Given the description of an element on the screen output the (x, y) to click on. 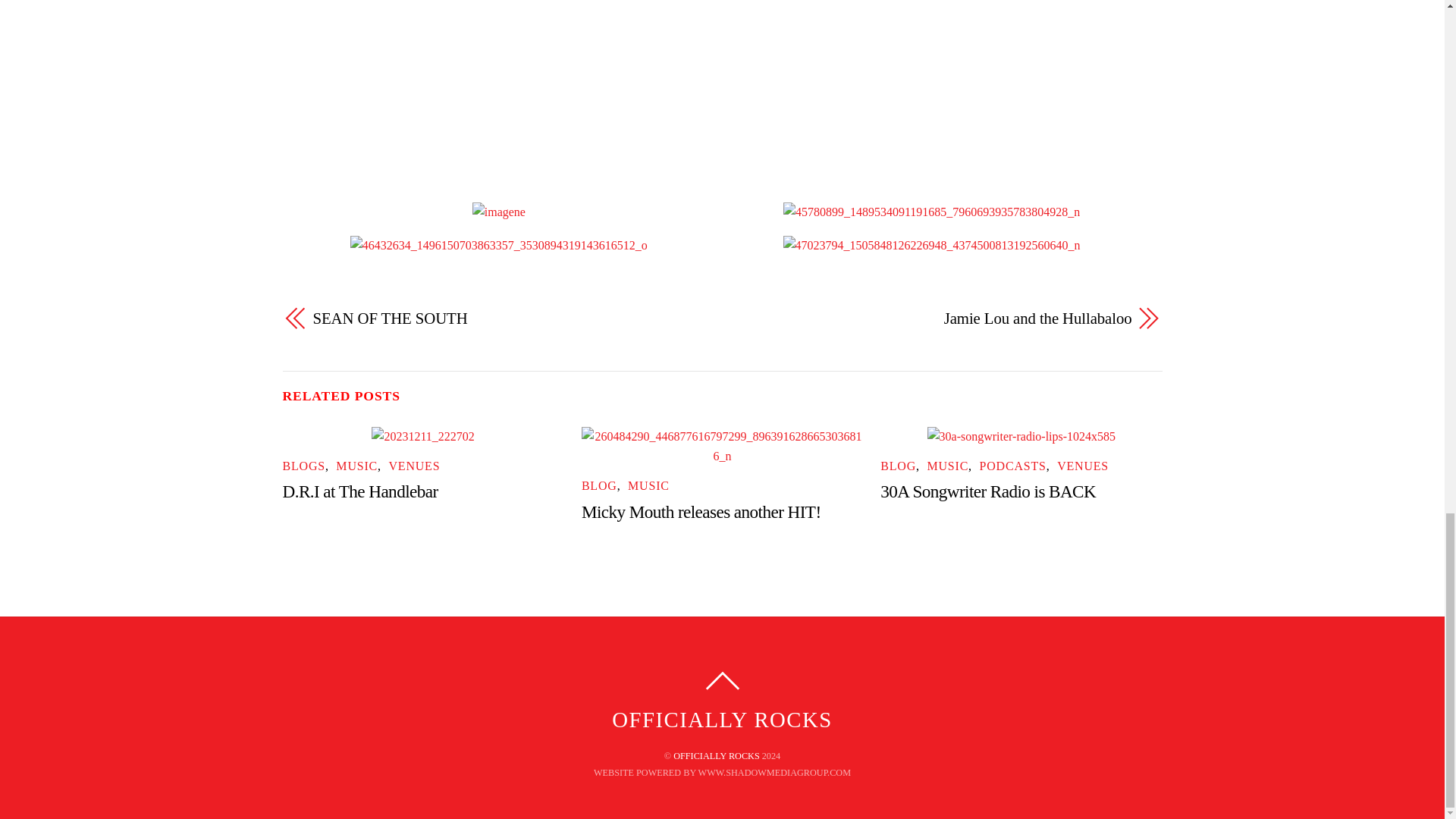
Micky Mouth releases another HIT! (700, 511)
Jamie Lou and the Hullabaloo (939, 318)
SEAN OF THE SOUTH (504, 318)
Officially Rocks (721, 719)
MUSIC (648, 485)
BLOG (598, 485)
BLOG (897, 465)
VENUES (1082, 465)
30A Songwriter Radio is BACK (988, 491)
BLOGS (303, 465)
